Given the description of an element on the screen output the (x, y) to click on. 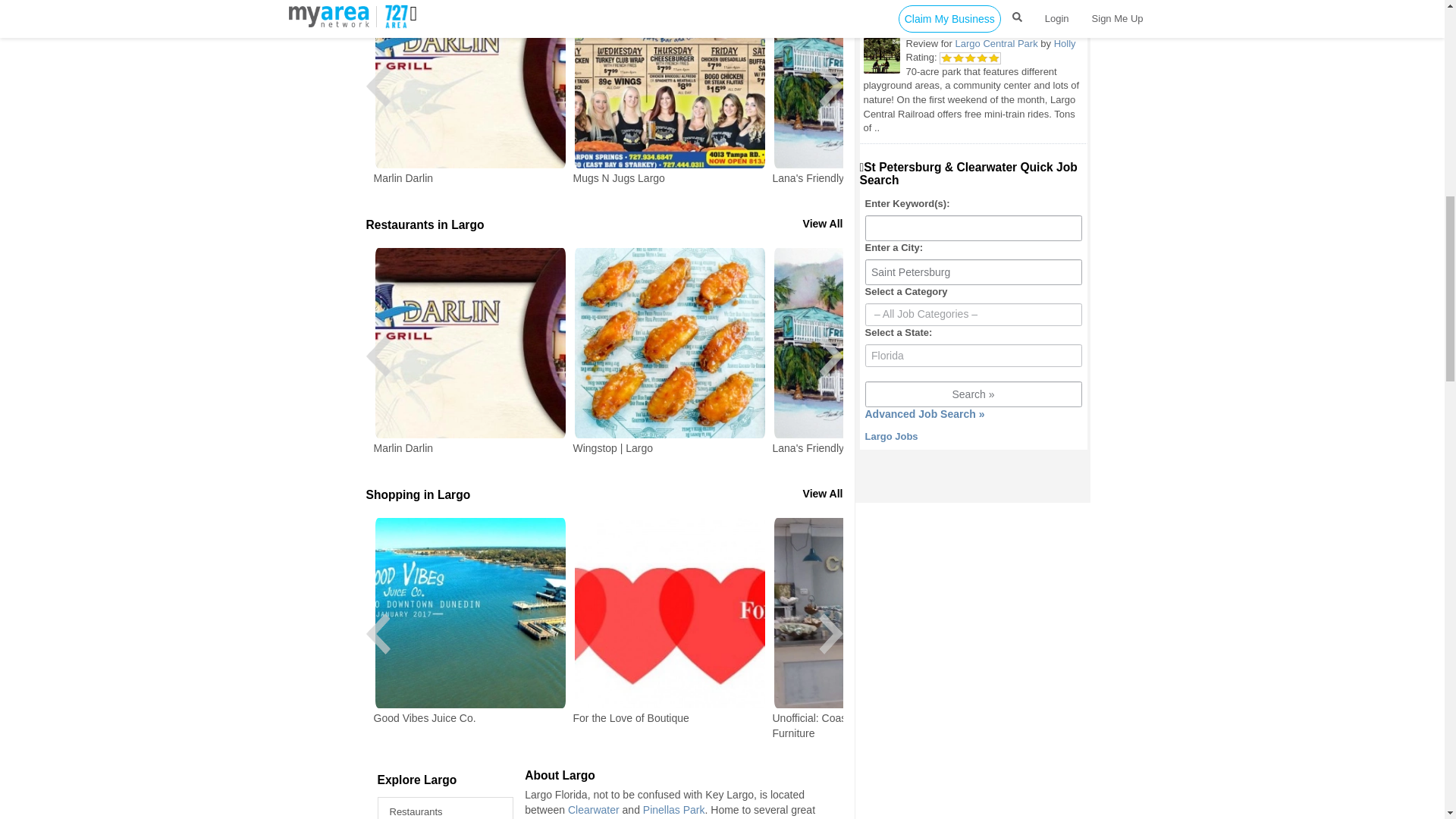
Saint Petersburg (972, 272)
